Given the description of an element on the screen output the (x, y) to click on. 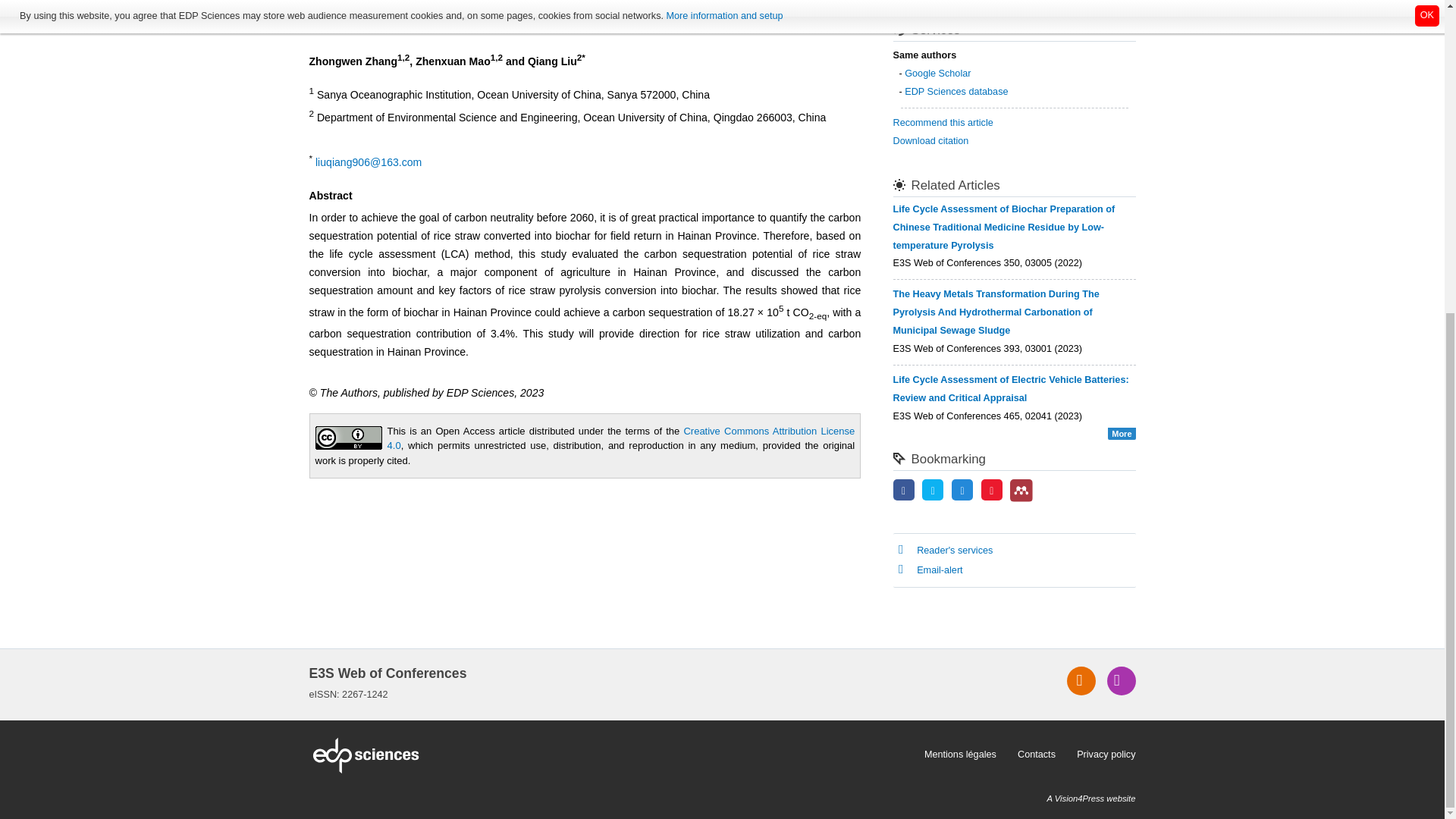
Mendeley (1021, 490)
